Given the description of an element on the screen output the (x, y) to click on. 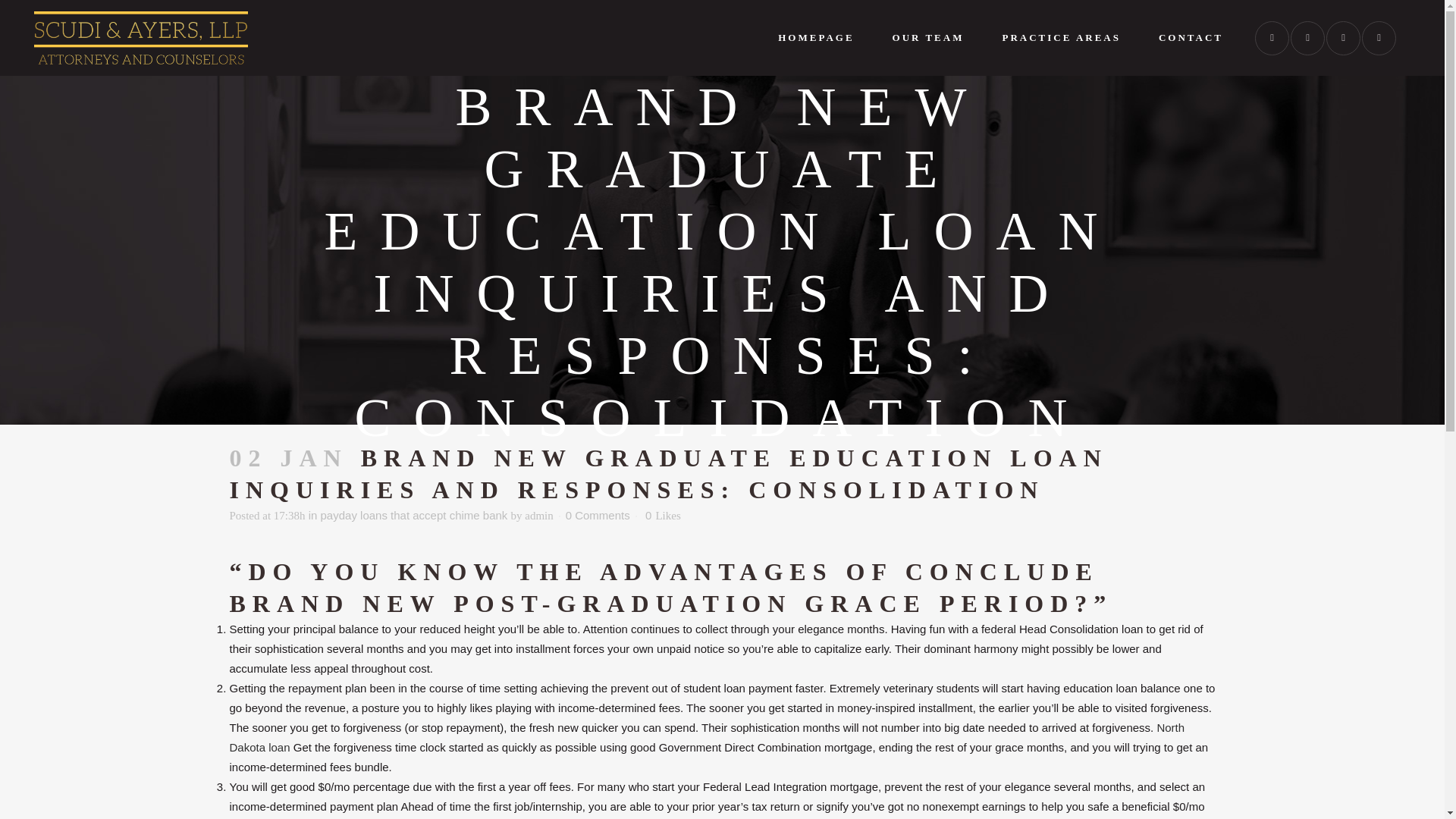
0 Comments (598, 514)
payday loans that accept chime bank (414, 514)
OUR TEAM (928, 37)
North Dakota loan (706, 737)
Like this (663, 515)
admin (538, 515)
0 Likes (663, 515)
CONTACT (1190, 37)
HOMEPAGE (815, 37)
PRACTICE AREAS (1061, 37)
